Given the description of an element on the screen output the (x, y) to click on. 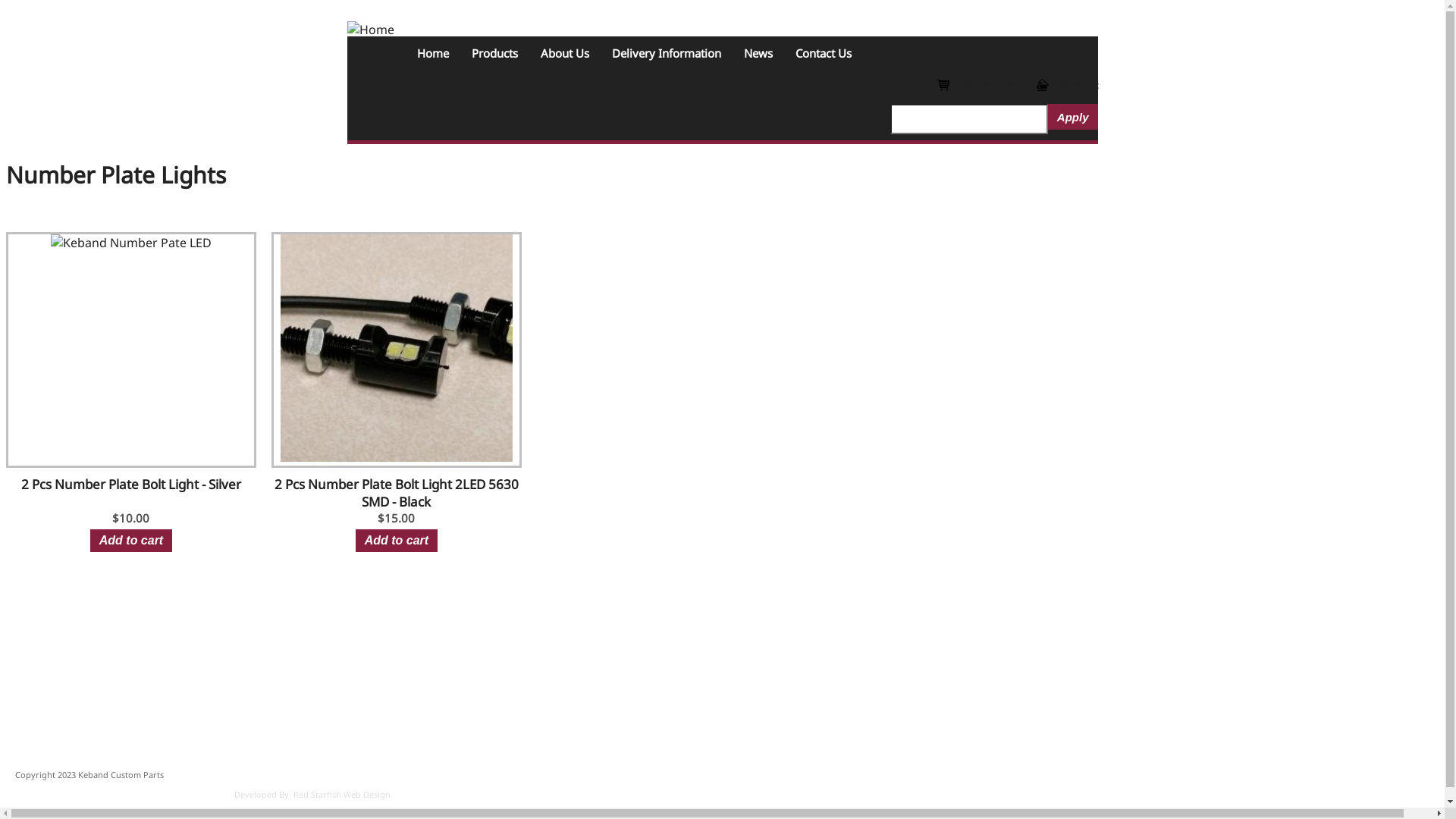
Check Out Element type: text (1066, 85)
Delivery Information Element type: text (666, 52)
About Us Element type: text (564, 52)
Add to cart Element type: text (396, 540)
Products Element type: text (493, 52)
Shopping cart Element type: text (975, 85)
Red Starfish Web Design Element type: text (341, 794)
Add to cart Element type: text (131, 540)
News Element type: text (758, 52)
Skip to main content Element type: text (6, 6)
Home Element type: text (431, 52)
Home Element type: hover (370, 29)
Contact Us Element type: text (823, 52)
Apply Element type: text (1073, 116)
